Given the description of an element on the screen output the (x, y) to click on. 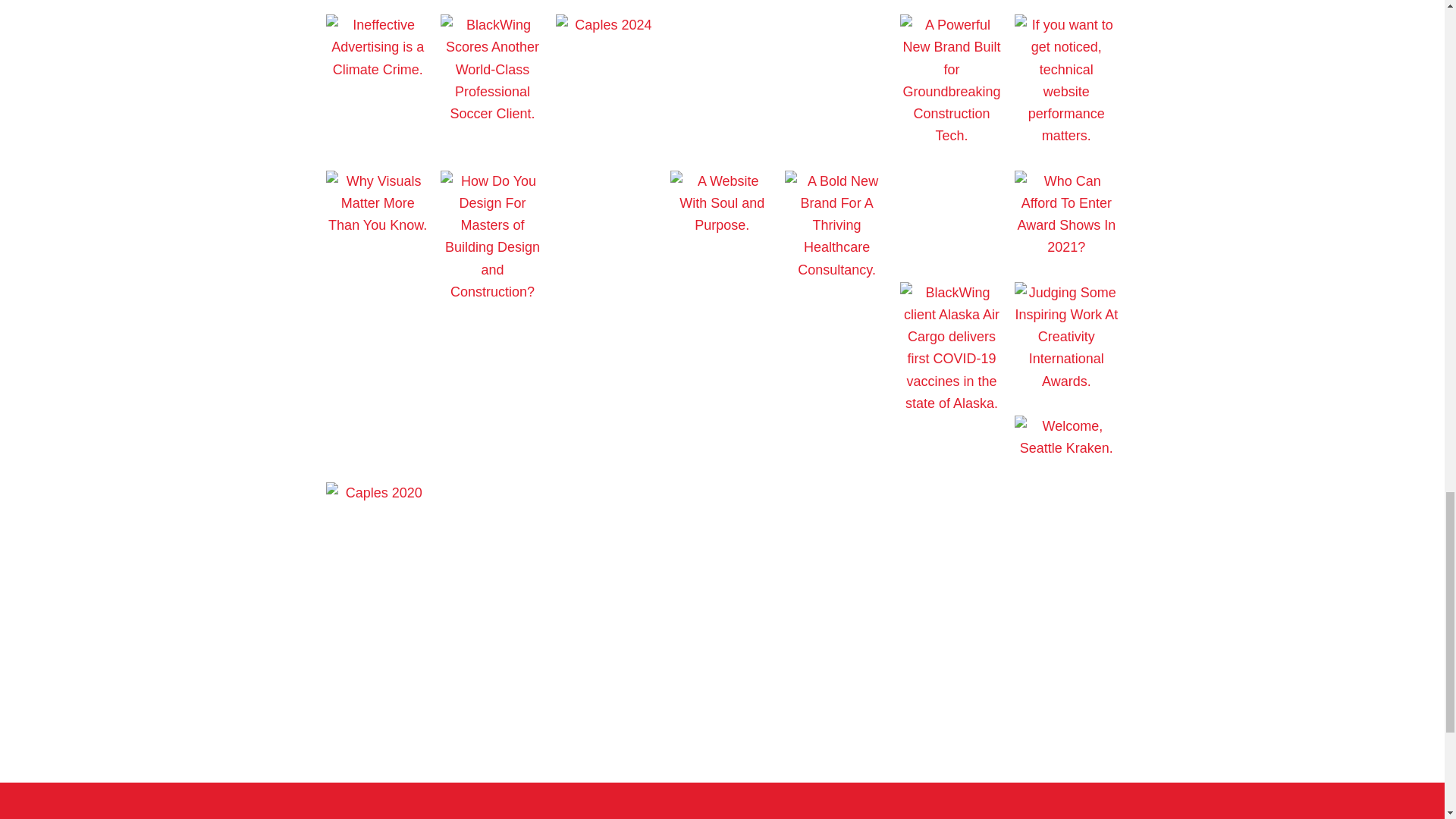
A Stunning Website Metamorphosis. (607, 181)
A Bold New Brand For A Thriving Healthcare Consultancy. (836, 269)
A Website With Soul and Purpose. (721, 224)
Built to Win. (721, 24)
Welcome, Seattle Kraken. (1066, 447)
Ineffective Advertising is a Climate Crime. (377, 69)
Who Can Afford To Enter Award Shows In 2021? (1066, 246)
Why Visuals Matter More Than You Know. (377, 224)
Have you outgrown your brand? (836, 24)
